Given the description of an element on the screen output the (x, y) to click on. 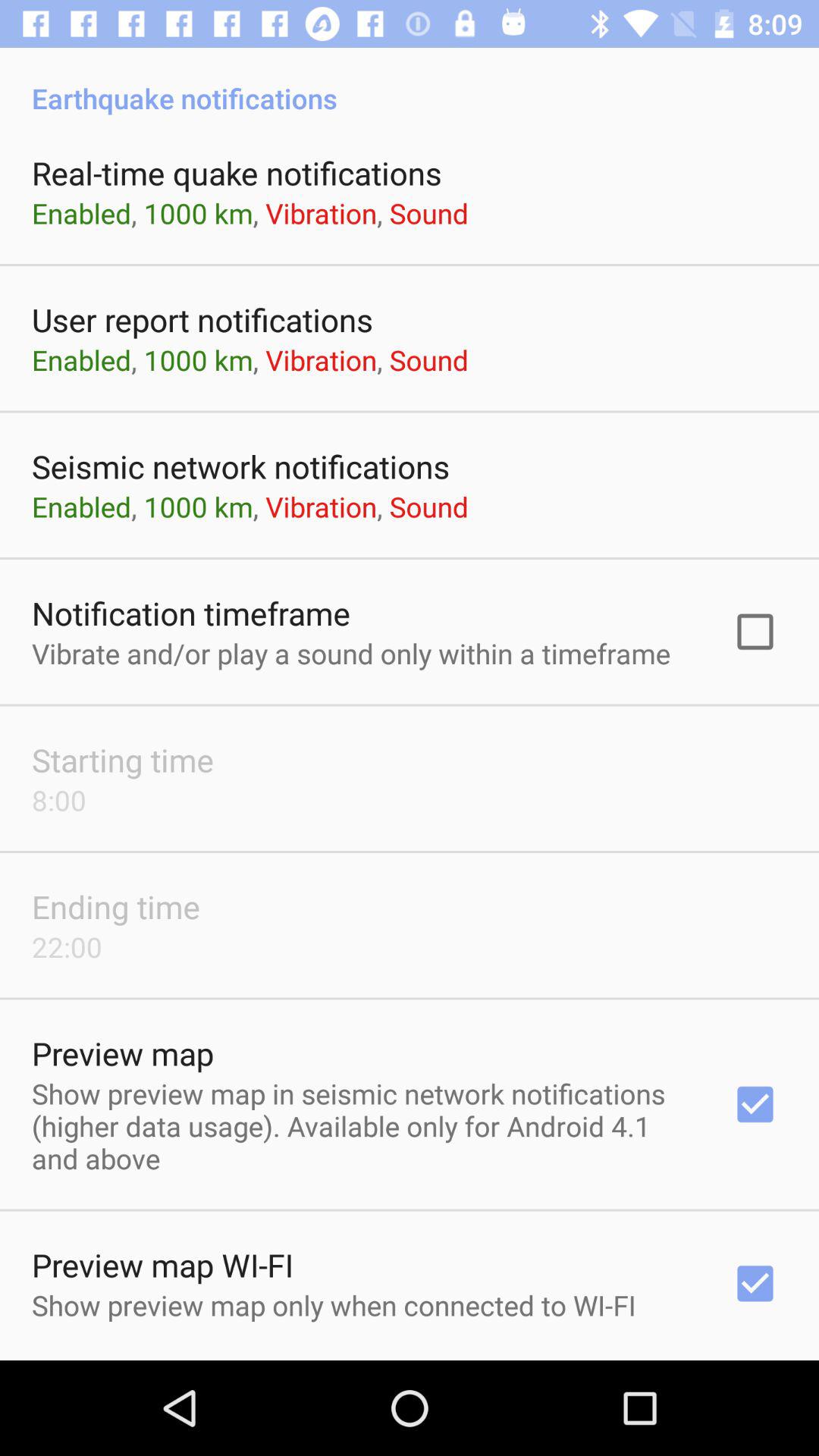
press icon below enabled 1000 km icon (190, 612)
